Given the description of an element on the screen output the (x, y) to click on. 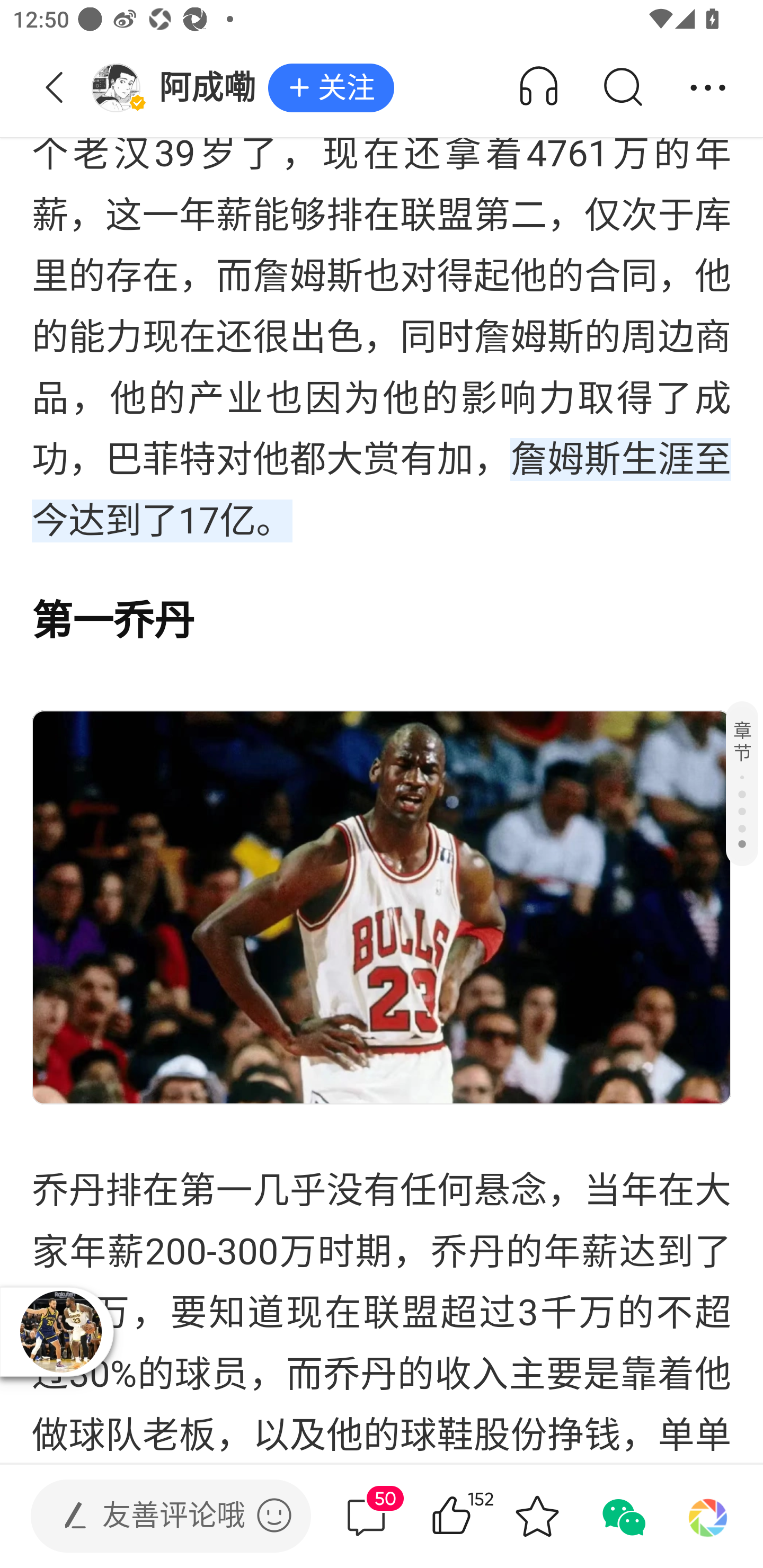
阿成嘞 (179, 87)
搜索  (622, 87)
分享  (707, 87)
 返回 (54, 87)
 关注 (330, 88)
章节 (741, 782)
新闻图片 (381, 906)
播放器 (60, 1331)
发表评论  友善评论哦 发表评论  (155, 1516)
50评论  50 评论 (365, 1516)
152赞 (476, 1516)
收藏  (536, 1516)
分享到微信  (622, 1516)
分享到朋友圈 (707, 1516)
 (274, 1515)
